Given the description of an element on the screen output the (x, y) to click on. 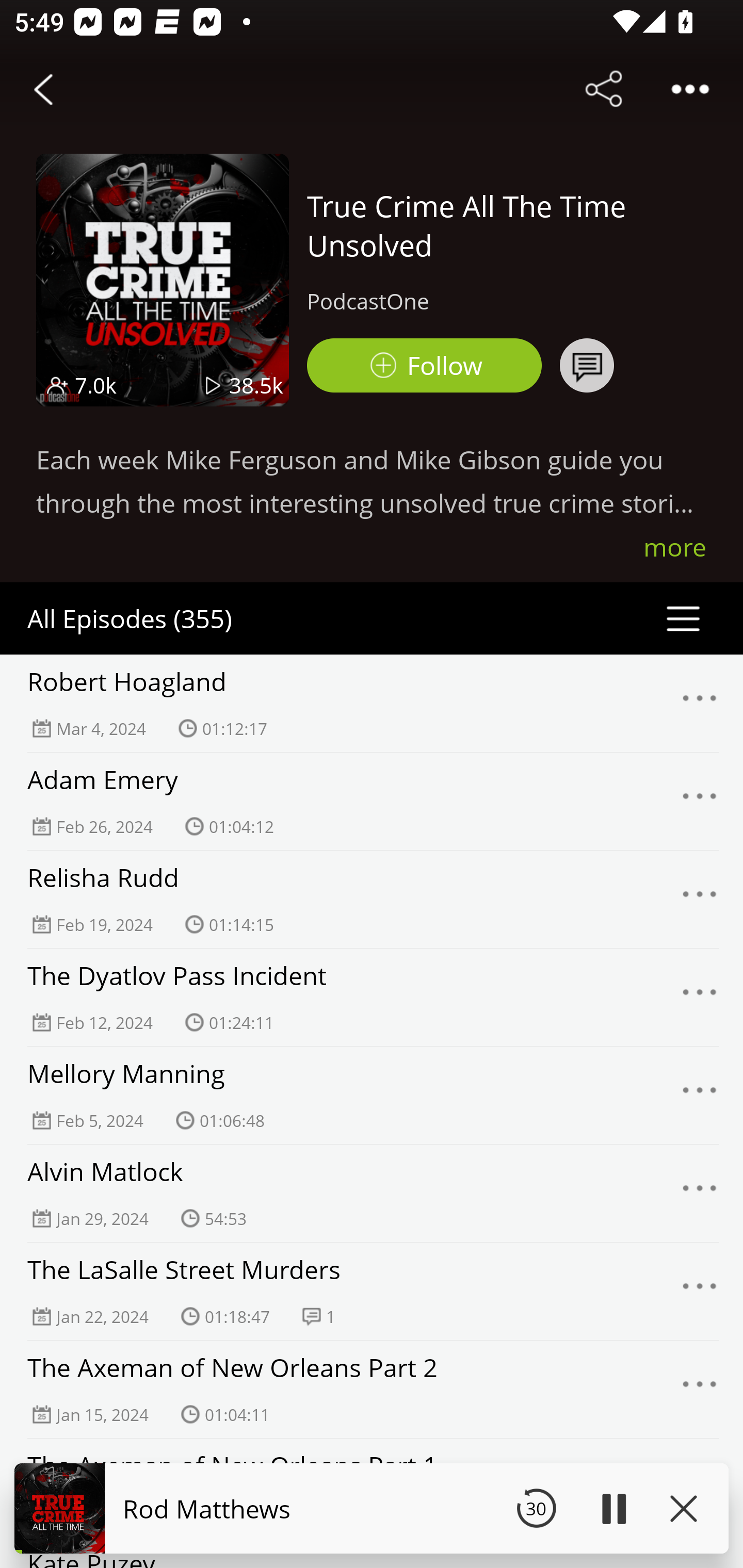
Back (43, 88)
Podbean Follow (423, 365)
7.0k (95, 384)
more (674, 546)
Robert Hoagland Mar 4, 2024 01:12:17 Menu (371, 702)
Menu (699, 703)
Adam Emery Feb 26, 2024 01:04:12 Menu (371, 800)
Menu (699, 801)
Relisha Rudd Feb 19, 2024 01:14:15 Menu (371, 898)
Menu (699, 899)
Menu (699, 997)
Mellory Manning Feb 5, 2024 01:06:48 Menu (371, 1094)
Menu (699, 1095)
Alvin Matlock Jan 29, 2024 54:53 Menu (371, 1192)
Menu (699, 1193)
Menu (699, 1291)
Menu (699, 1389)
Rod Matthews 30 Seek Backward 49934.0 Play (371, 1508)
Play (613, 1507)
30 Seek Backward (536, 1508)
